Given the description of an element on the screen output the (x, y) to click on. 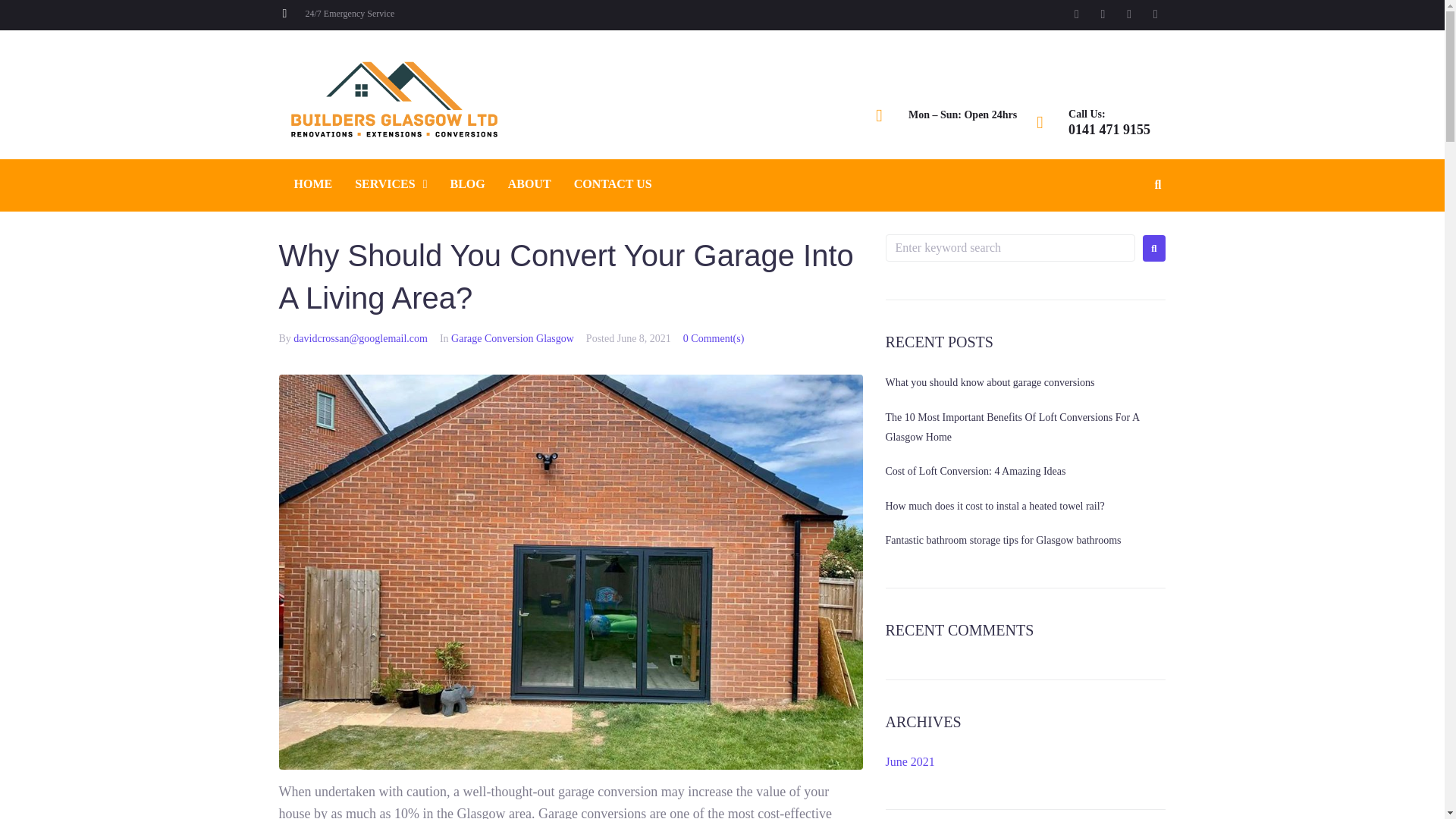
How much does it cost to instal a heated towel rail? (995, 505)
CONTACT US (612, 183)
What you should know about garage conversions (989, 382)
ABOUT (529, 183)
0141 471 9155 (1109, 129)
Cost of Loft Conversion: 4 Amazing Ideas (975, 471)
Garage Conversion Glasgow (512, 337)
SERVICES (390, 183)
HOME (312, 183)
BLOG (467, 183)
